Given the description of an element on the screen output the (x, y) to click on. 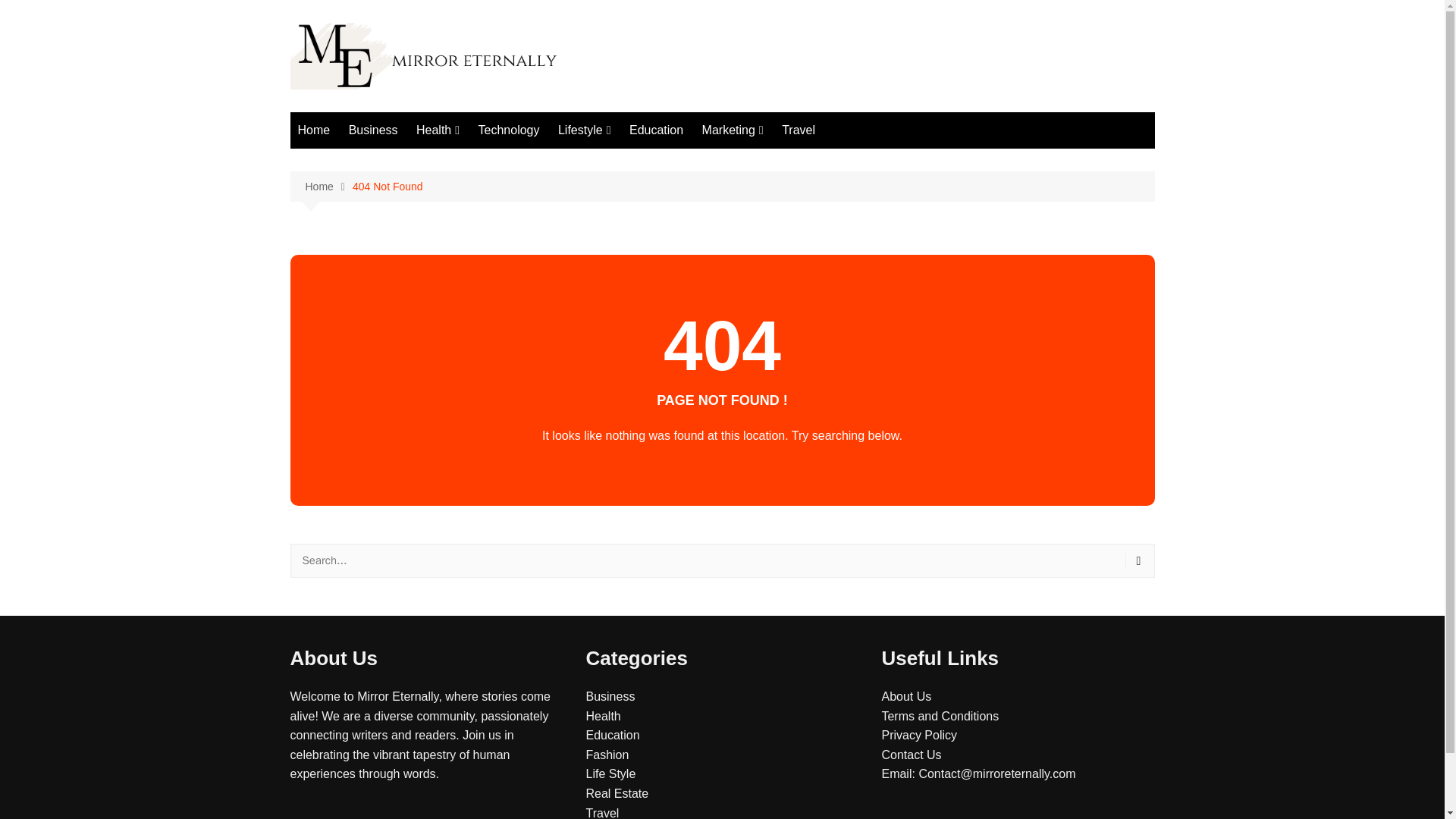
Travel (601, 812)
Life Style (609, 773)
Fashion (606, 754)
Food (492, 160)
Health (438, 130)
Business (609, 696)
Fashion (633, 160)
Privacy Policy (918, 735)
Education (655, 130)
Marketing (732, 130)
